Given the description of an element on the screen output the (x, y) to click on. 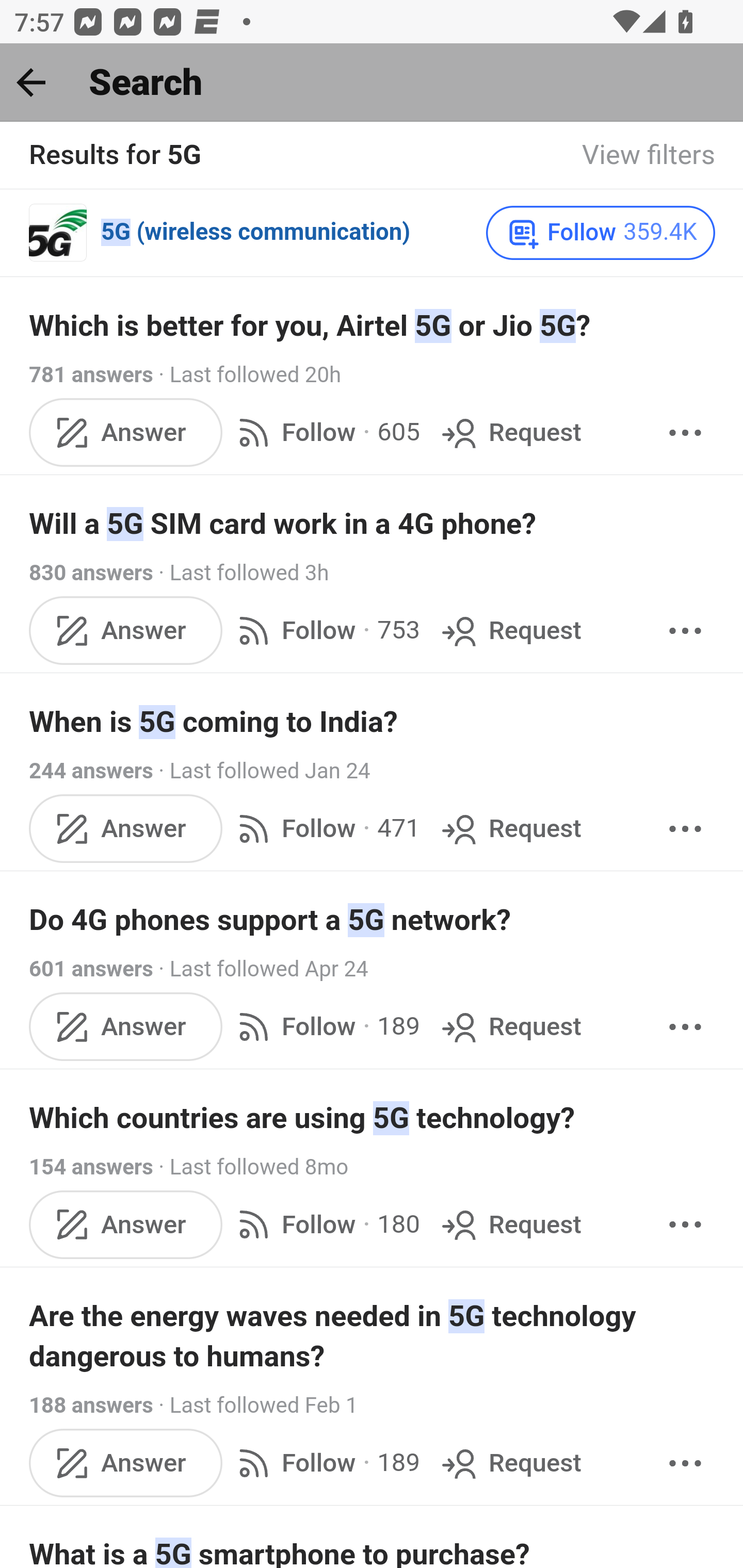
Back Search (371, 82)
Back (30, 82)
View filters (648, 155)
Follow 359.4K (599, 232)
Which is better for you, Airtel 5G or Jio 5G? (372, 325)
781 answers 781  answers (90, 375)
Answer (125, 433)
Follow · 605 (324, 433)
Request (509, 433)
More (684, 433)
Will a 5G SIM card work in a 4G phone? (372, 523)
830 answers 830  answers (90, 573)
Answer (125, 630)
Follow · 753 (324, 630)
Request (509, 630)
More (684, 630)
When is 5G coming to India? (372, 722)
244 answers 244  answers (90, 771)
Answer (125, 828)
Follow · 471 (324, 828)
Request (509, 828)
More (684, 828)
Do 4G phones support a 5G network? (372, 919)
601 answers 601  answers (90, 969)
Answer (125, 1026)
Follow · 189 (324, 1026)
Request (509, 1026)
More (684, 1026)
Which countries are using 5G technology? (372, 1117)
154 answers 154  answers (90, 1167)
Answer (125, 1223)
Follow · 180 (324, 1223)
Request (509, 1223)
More (684, 1223)
188 answers 188  answers (90, 1405)
Answer (125, 1463)
Follow · 189 (324, 1463)
Request (509, 1463)
More (684, 1463)
What is a 5G smartphone to purchase? (372, 1550)
